Given the description of an element on the screen output the (x, y) to click on. 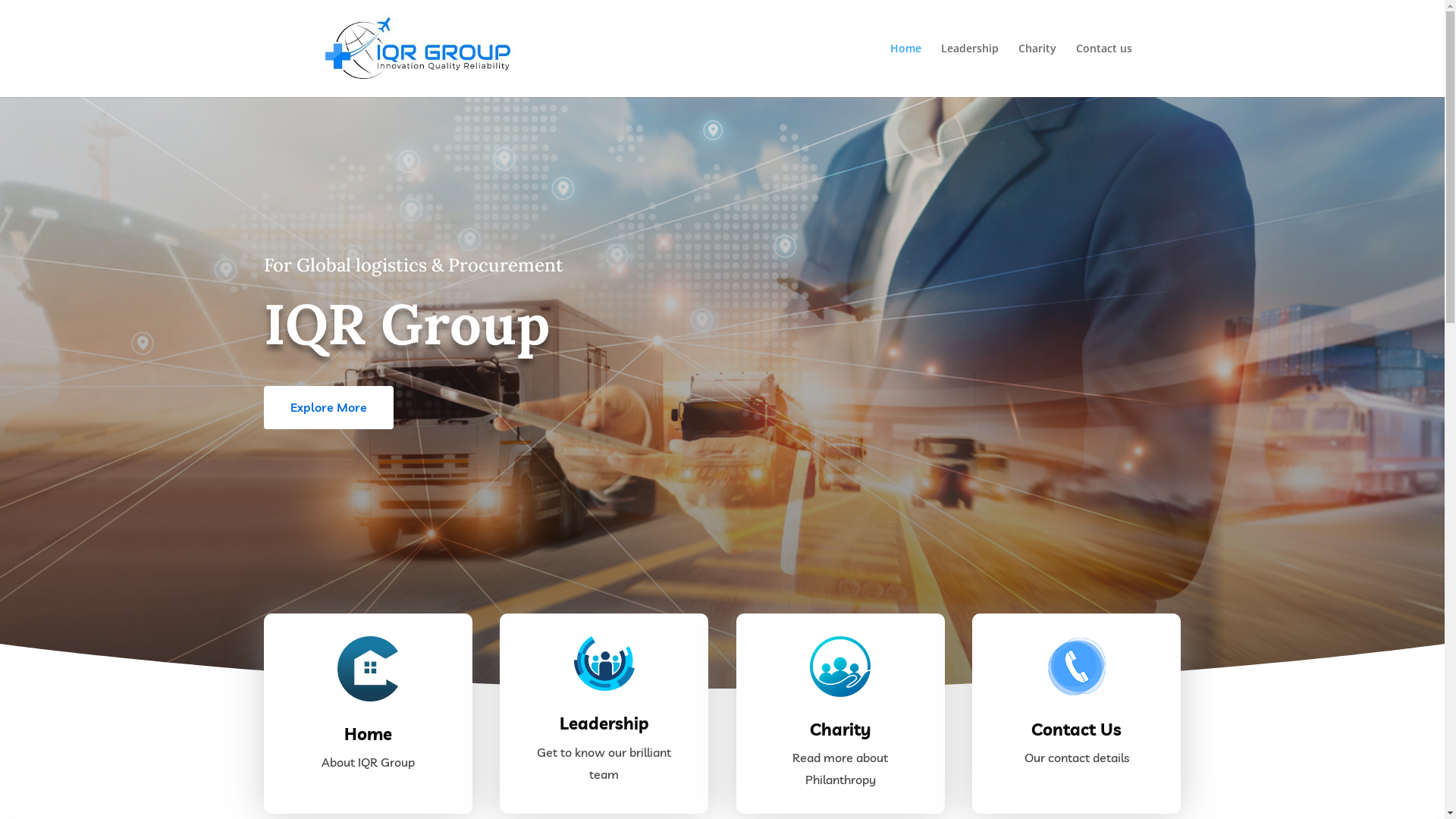
Home Element type: text (368, 733)
Contact Us Element type: text (1076, 729)
Home Element type: text (905, 70)
Explore More Element type: text (328, 407)
Leadership Element type: text (968, 70)
Contact us Element type: text (1103, 70)
Leadership Element type: text (604, 723)
Charity Element type: text (1036, 70)
Charity Element type: text (840, 729)
